Given the description of an element on the screen output the (x, y) to click on. 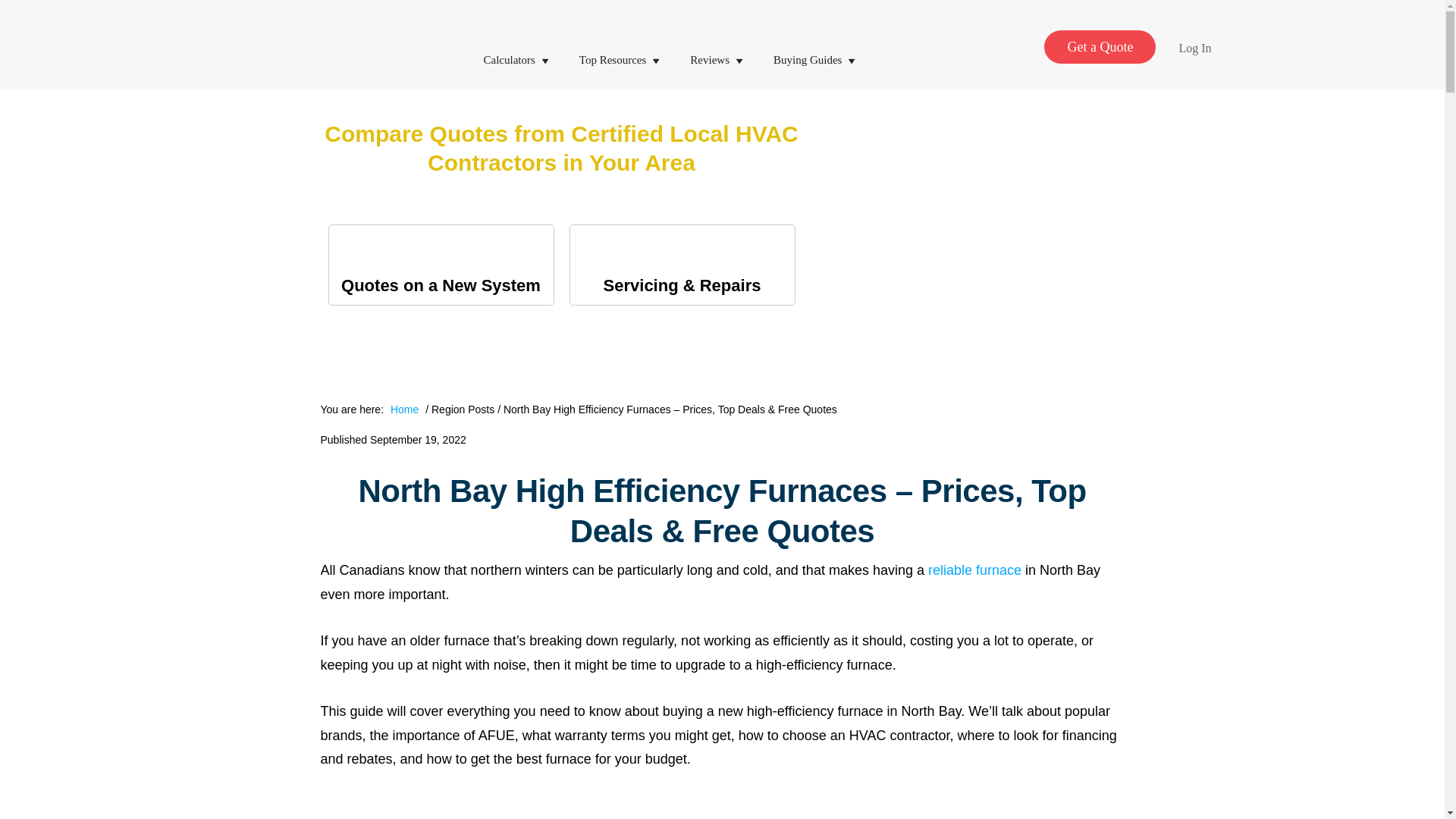
Reviews (719, 45)
Calculators (519, 45)
Top Resources (623, 45)
FURNACEPRICES.CA (346, 43)
